Given the description of an element on the screen output the (x, y) to click on. 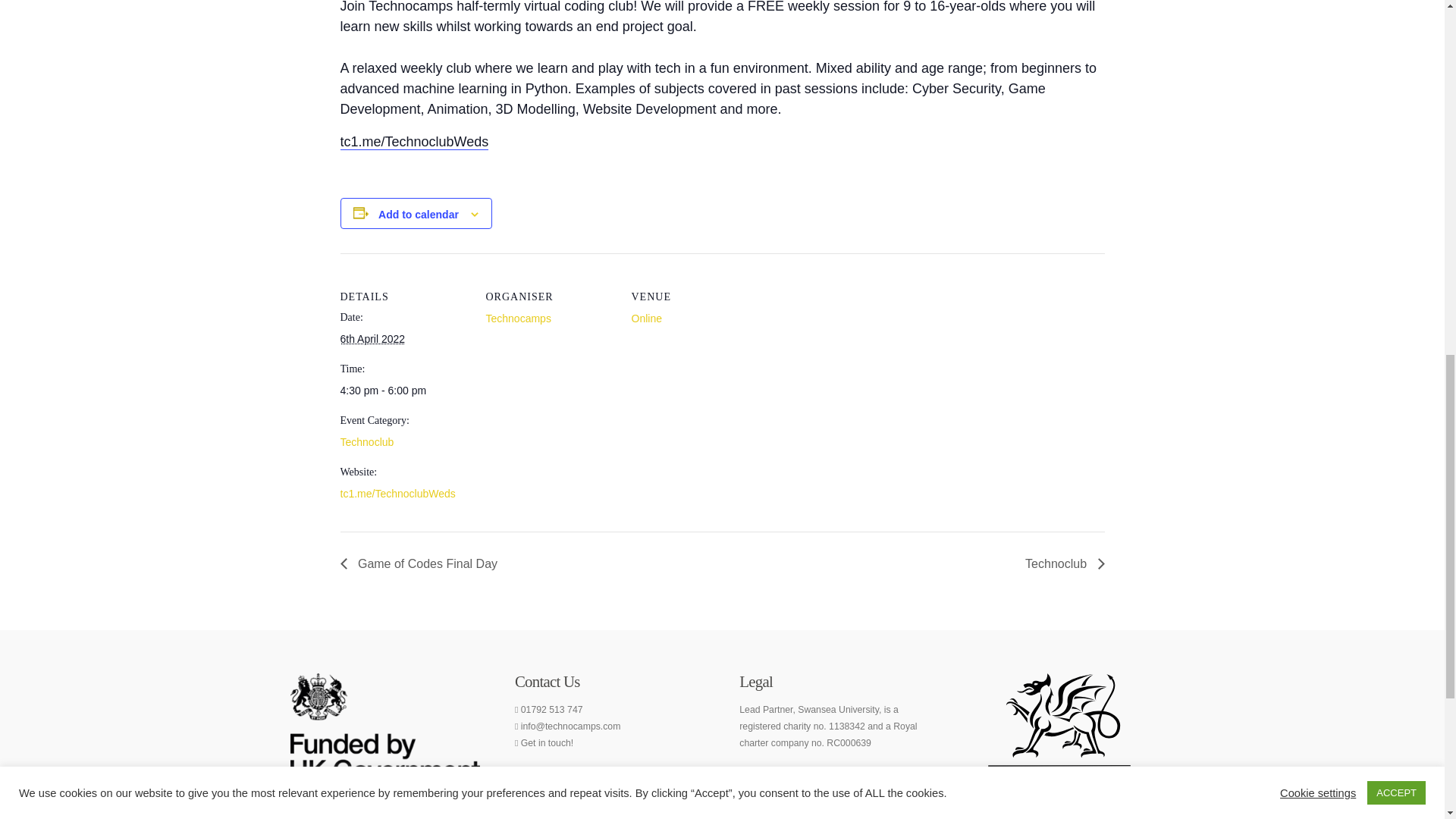
2022-04-06 (403, 390)
2022-04-06 (371, 338)
Technocamps (517, 318)
